Given the description of an element on the screen output the (x, y) to click on. 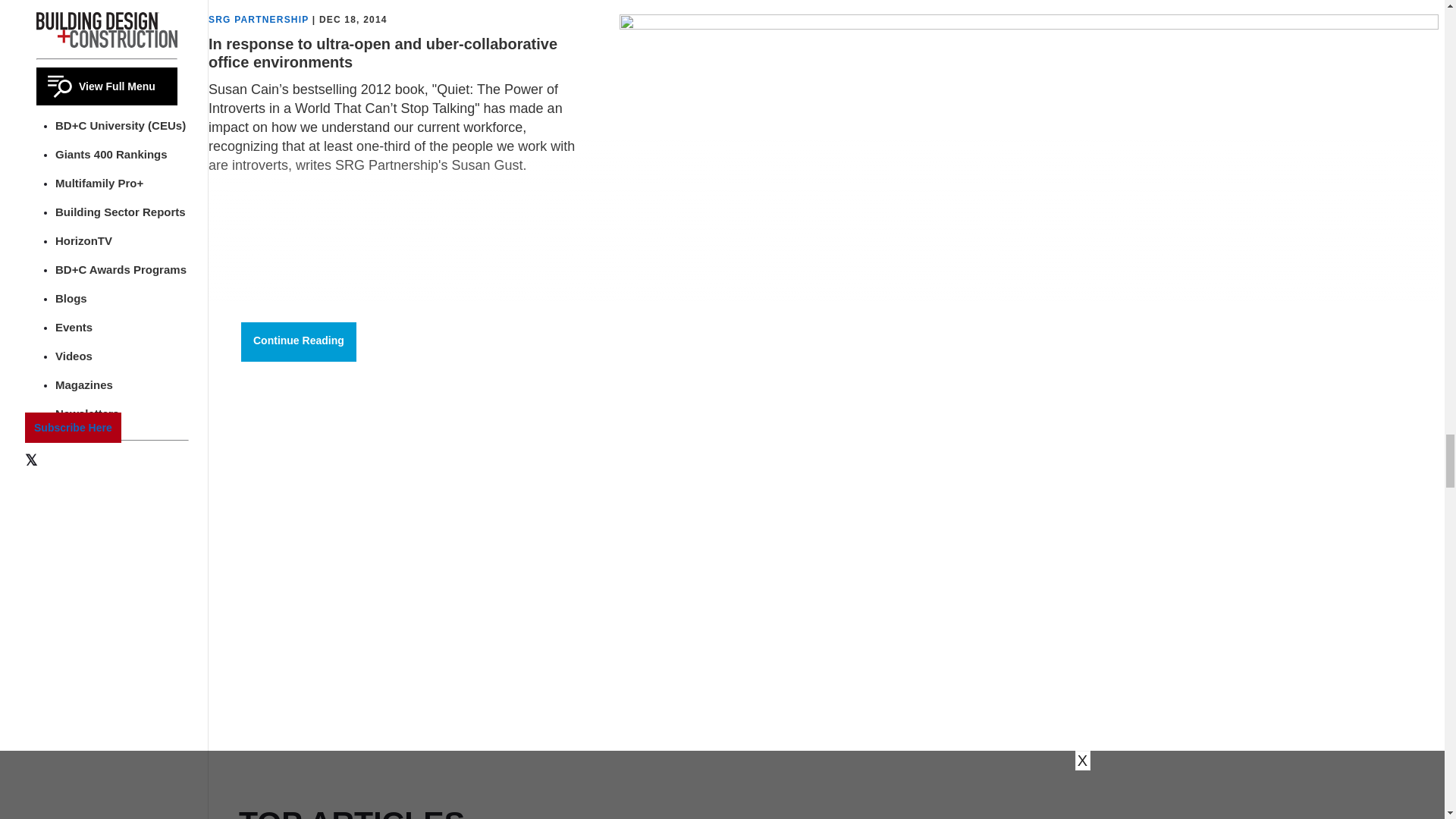
3rd party ad content (351, 489)
Continue Reading (298, 341)
3rd party ad content (351, 694)
